Given the description of an element on the screen output the (x, y) to click on. 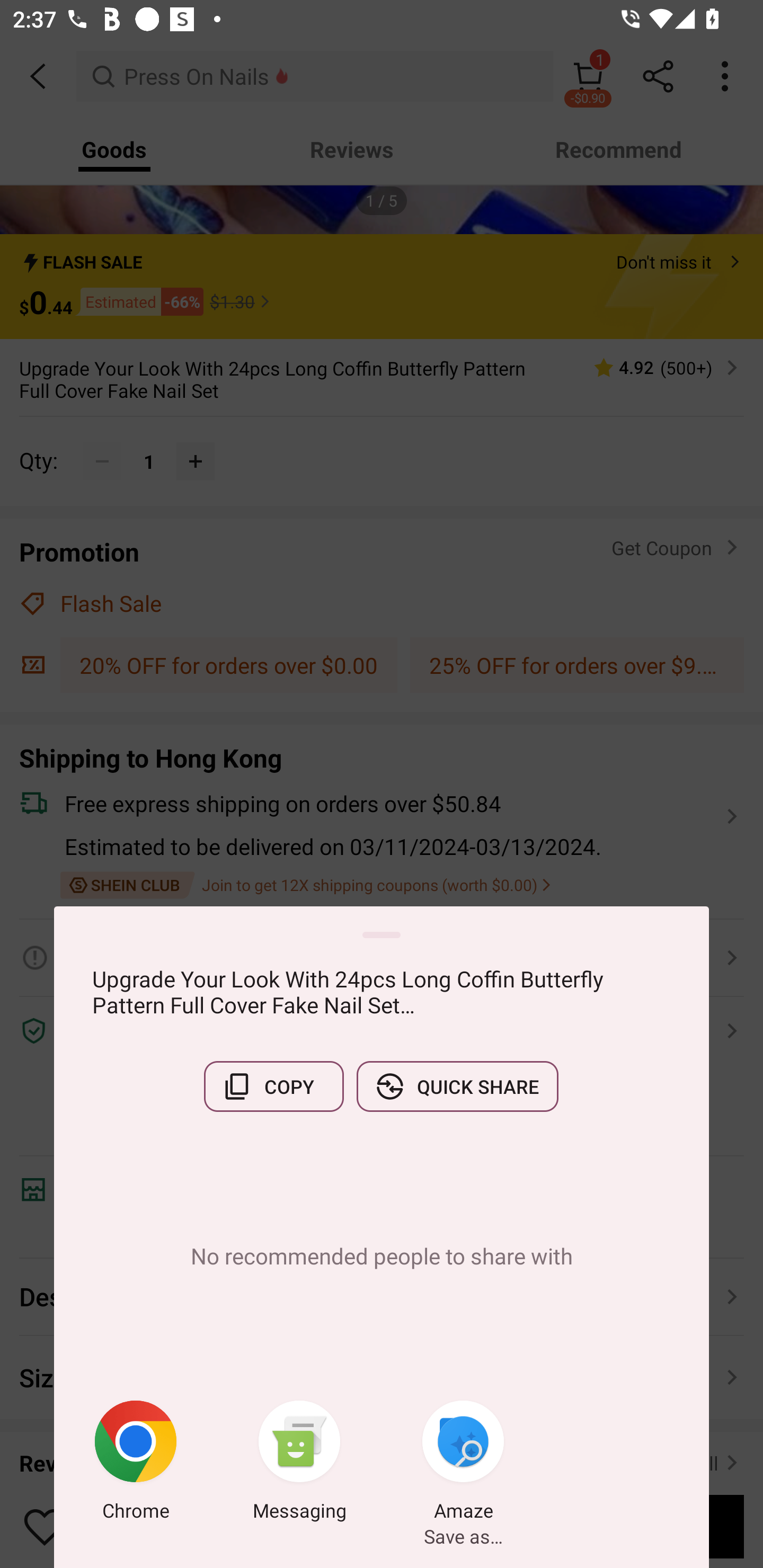
COPY (273, 1086)
QUICK SHARE (457, 1086)
Chrome (135, 1463)
Messaging (299, 1463)
Amaze Save as… (463, 1463)
